Given the description of an element on the screen output the (x, y) to click on. 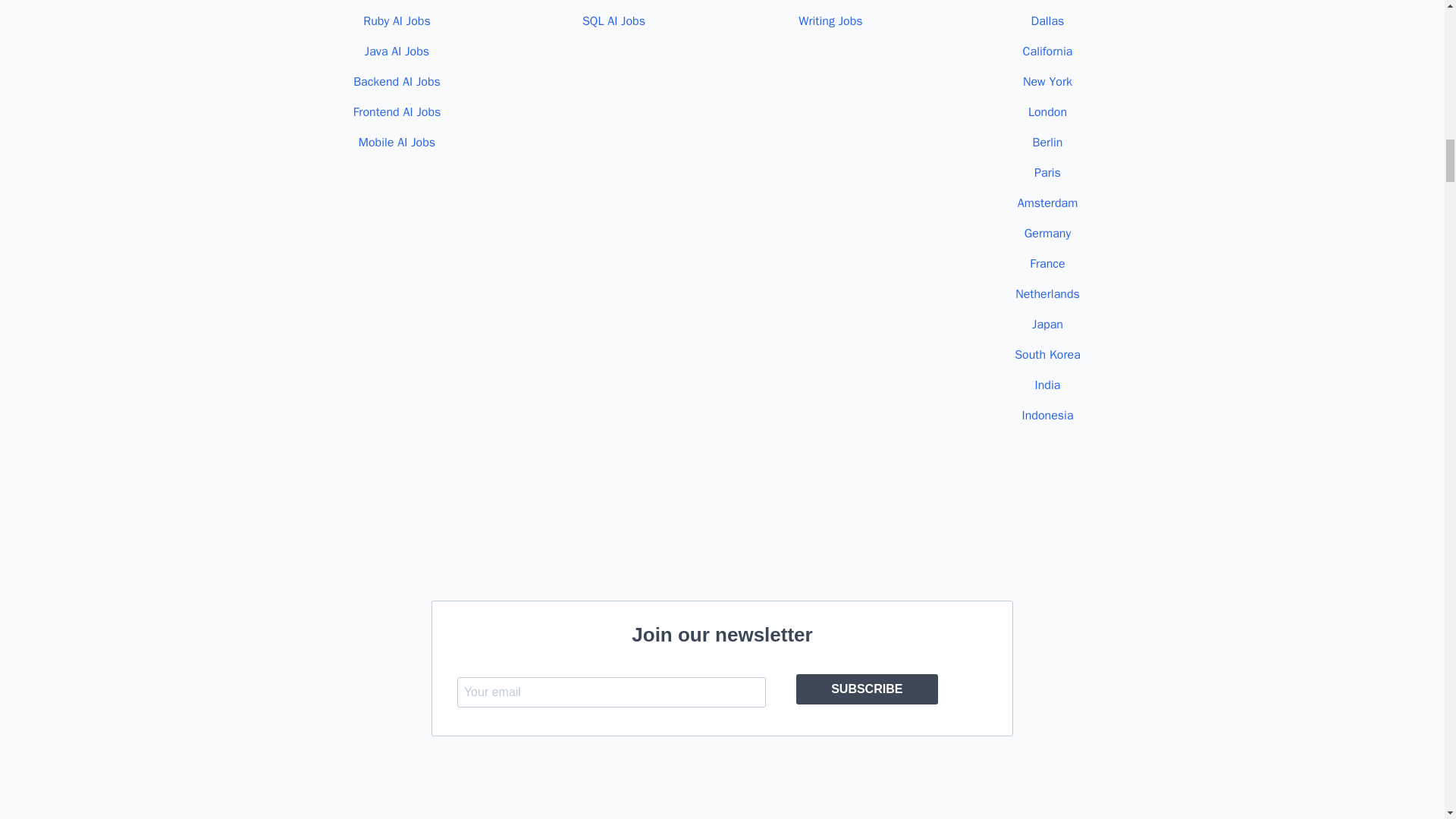
California (1048, 51)
Writing Jobs (829, 20)
Ruby AI Jobs (396, 20)
Berlin (1047, 142)
Frontend AI Jobs (397, 111)
New York (1047, 81)
SQL AI Jobs (613, 20)
Dallas (1047, 20)
London (1047, 111)
Java AI Jobs (397, 51)
Mobile AI Jobs (396, 142)
Backend AI Jobs (397, 81)
Amsterdam (1047, 202)
Germany (1047, 233)
Paris (1047, 172)
